Given the description of an element on the screen output the (x, y) to click on. 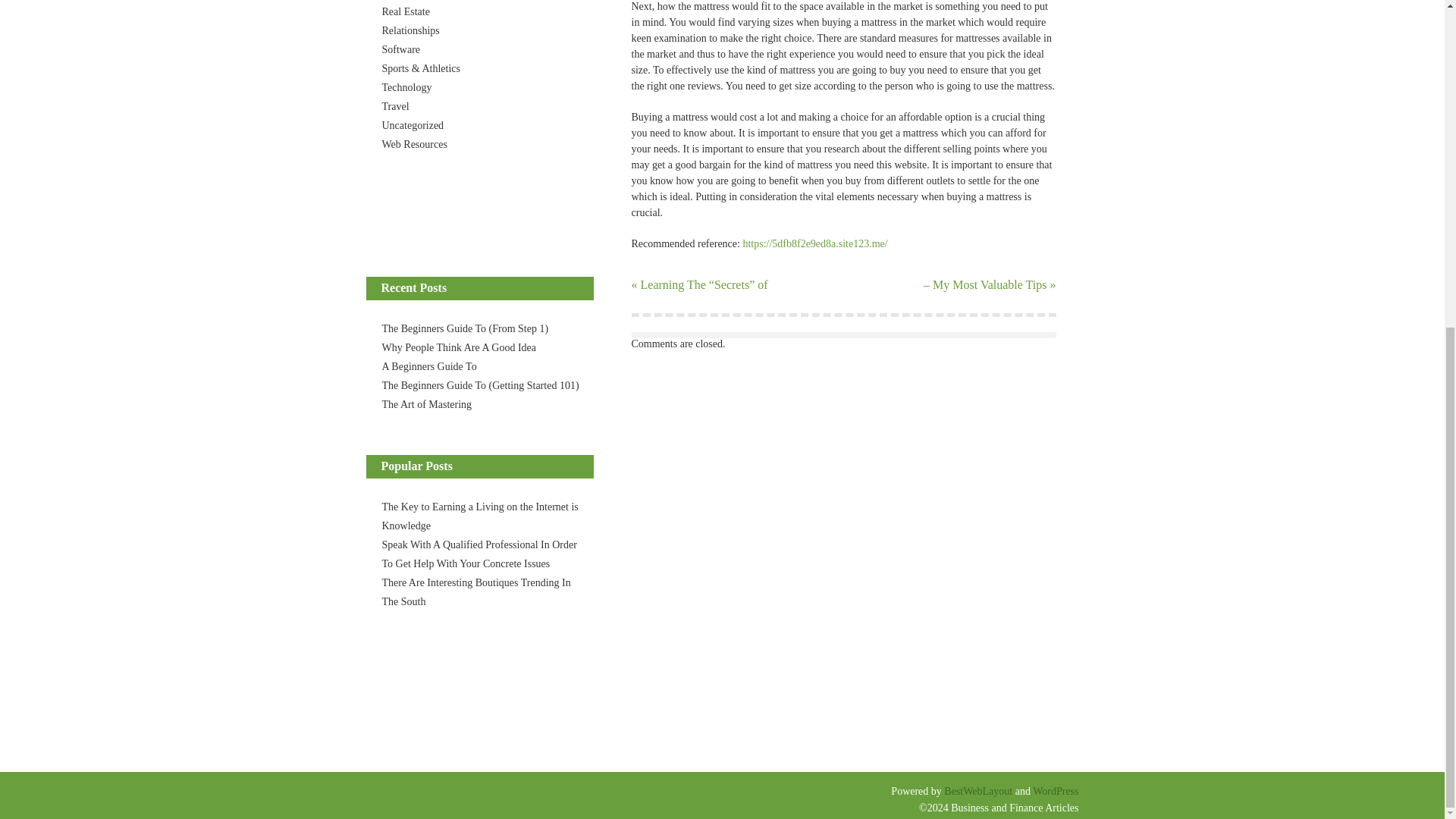
Real Estate (405, 11)
Relationships (410, 30)
The Key to Earning a Living on the Internet is Knowledge (479, 516)
Technology (406, 87)
There Are Interesting Boutiques Trending In The South (475, 592)
There Are Interesting Boutiques Trending In The South (475, 592)
Software (400, 49)
Why People Think Are A Good Idea (459, 347)
A Beginners Guide To (429, 366)
Web Resources (413, 143)
The Key to Earning a Living on the Internet is Knowledge (479, 516)
Travel (395, 106)
The Art of Mastering (426, 404)
